Given the description of an element on the screen output the (x, y) to click on. 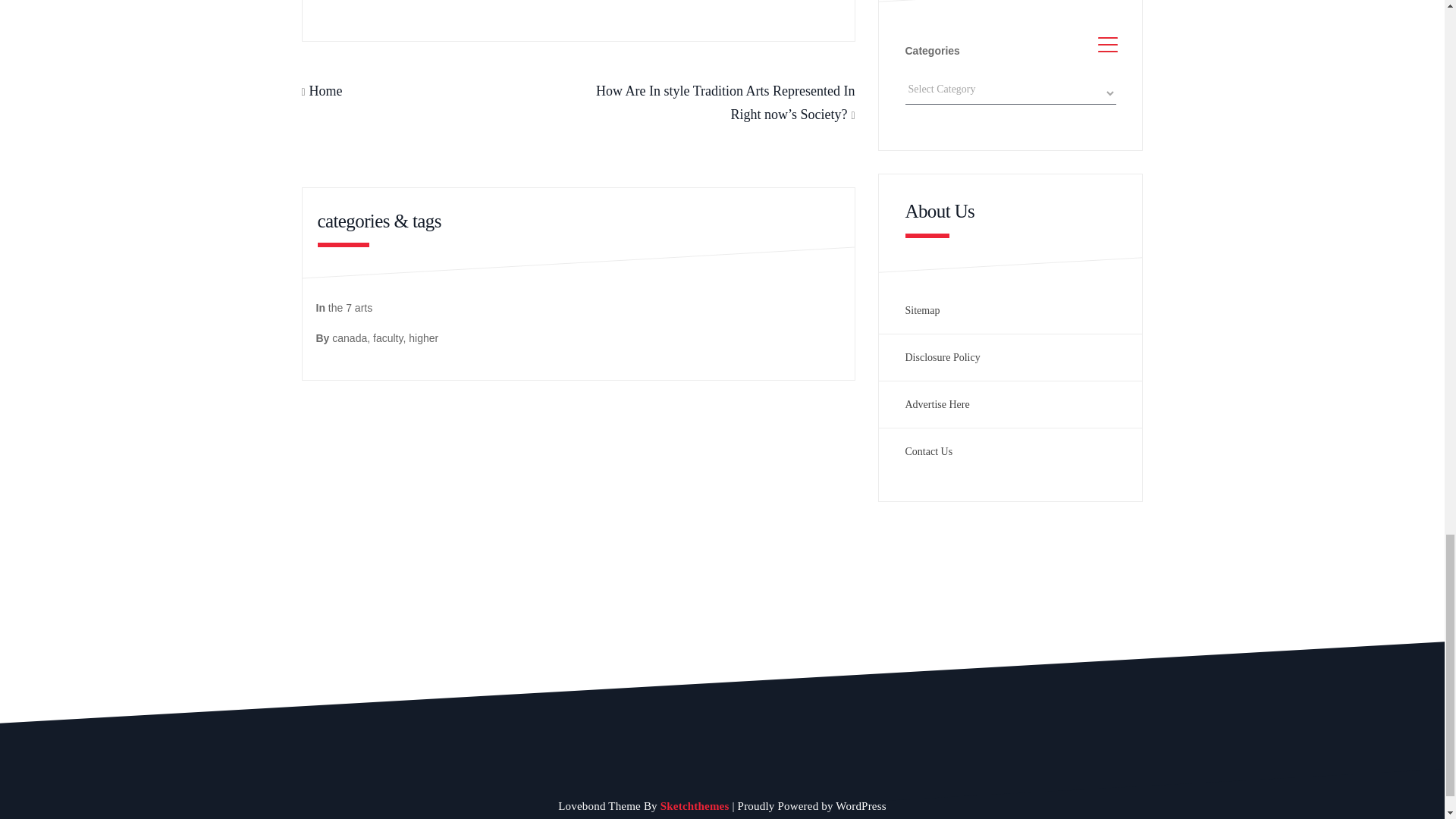
canada (348, 337)
faculty (387, 337)
higher (423, 337)
the 7 arts (350, 307)
Home (325, 90)
